Given the description of an element on the screen output the (x, y) to click on. 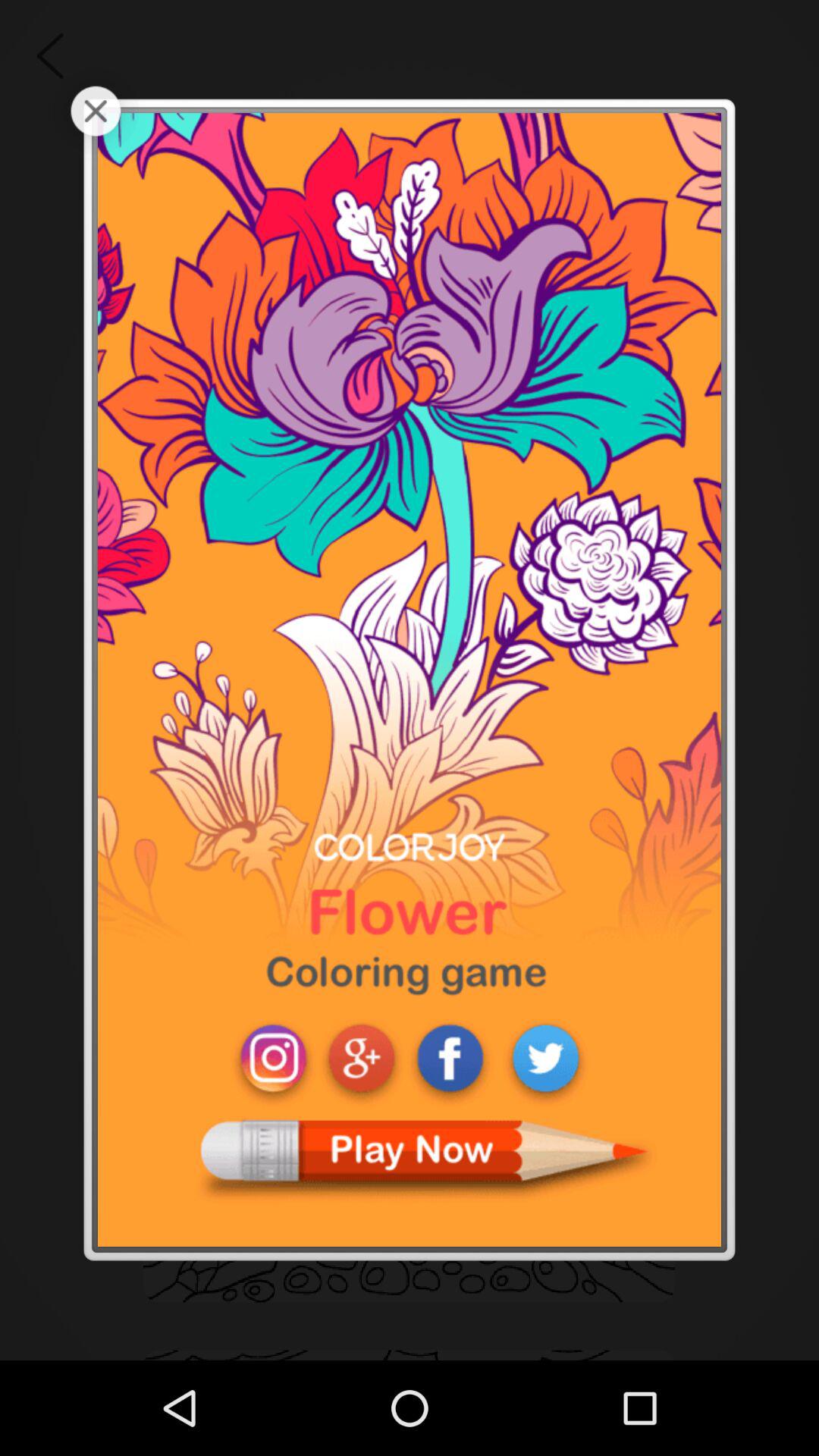
open the app store page (409, 679)
